Given the description of an element on the screen output the (x, y) to click on. 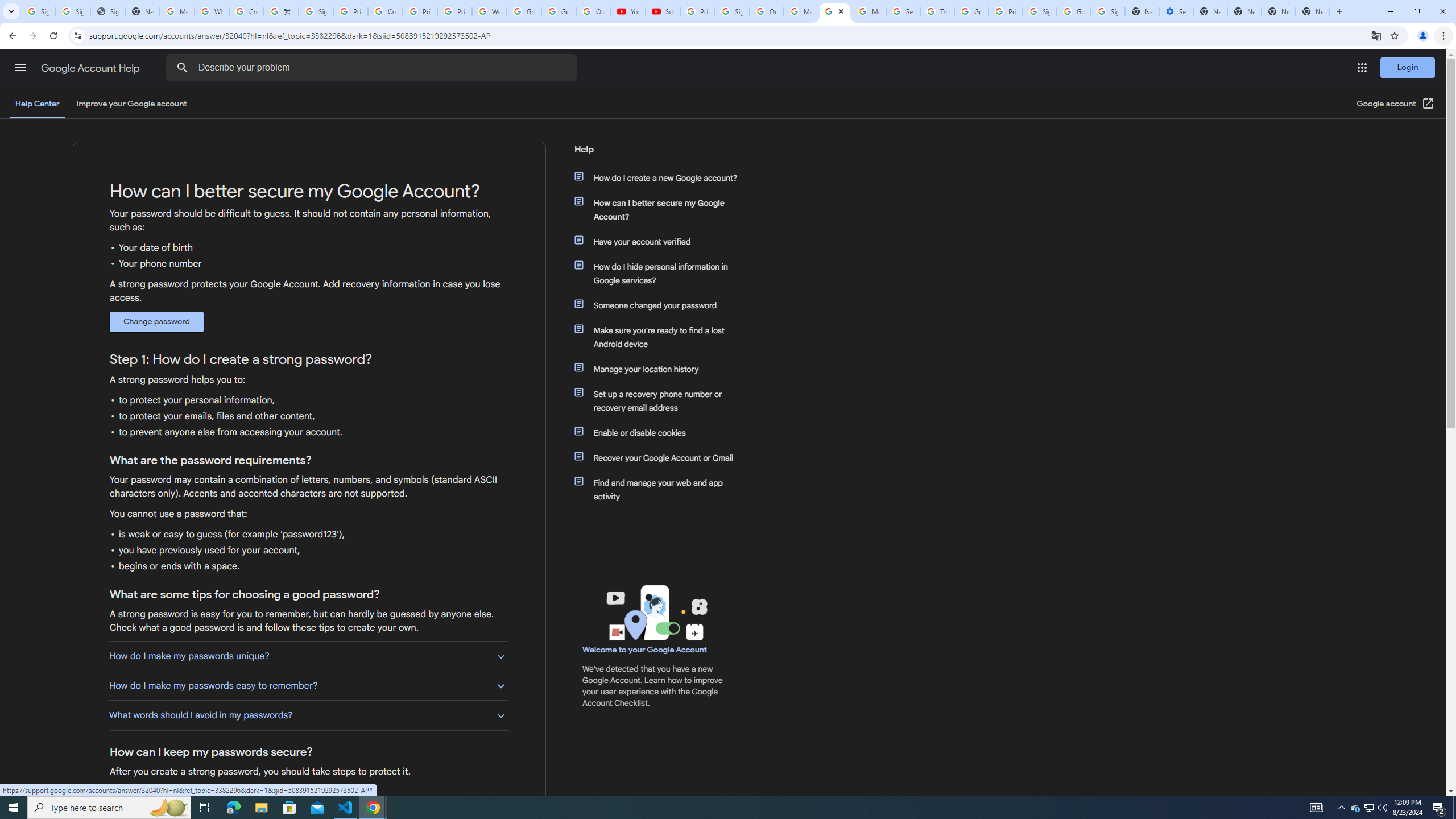
Translate this page (1376, 35)
Set up a recovery phone number or recovery email address (661, 400)
